Given the description of an element on the screen output the (x, y) to click on. 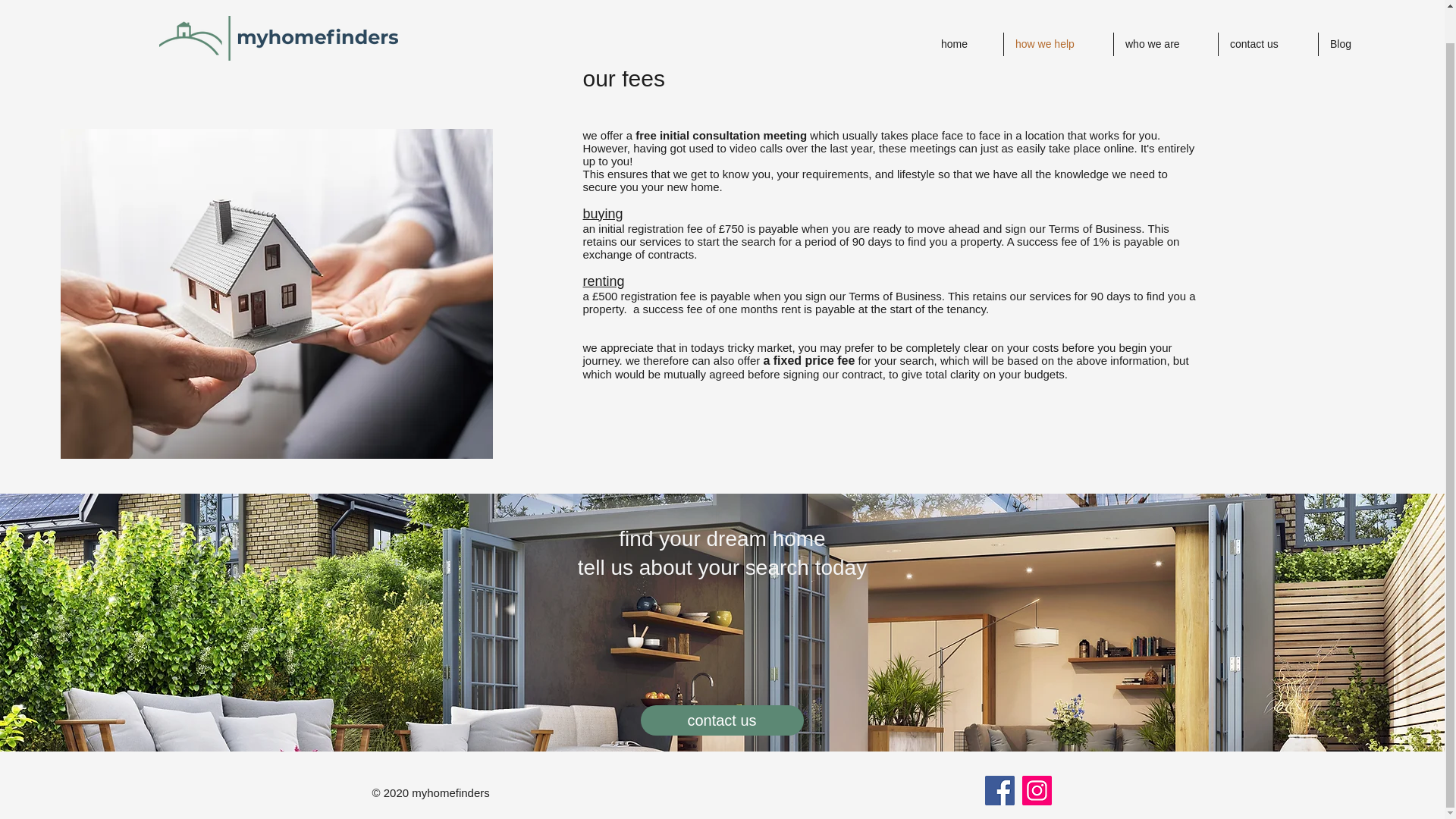
contact us (721, 719)
who we are (1165, 11)
how we help (1058, 11)
contact us (1267, 11)
home (966, 11)
Blog (1351, 11)
rent (944, 346)
